Given the description of an element on the screen output the (x, y) to click on. 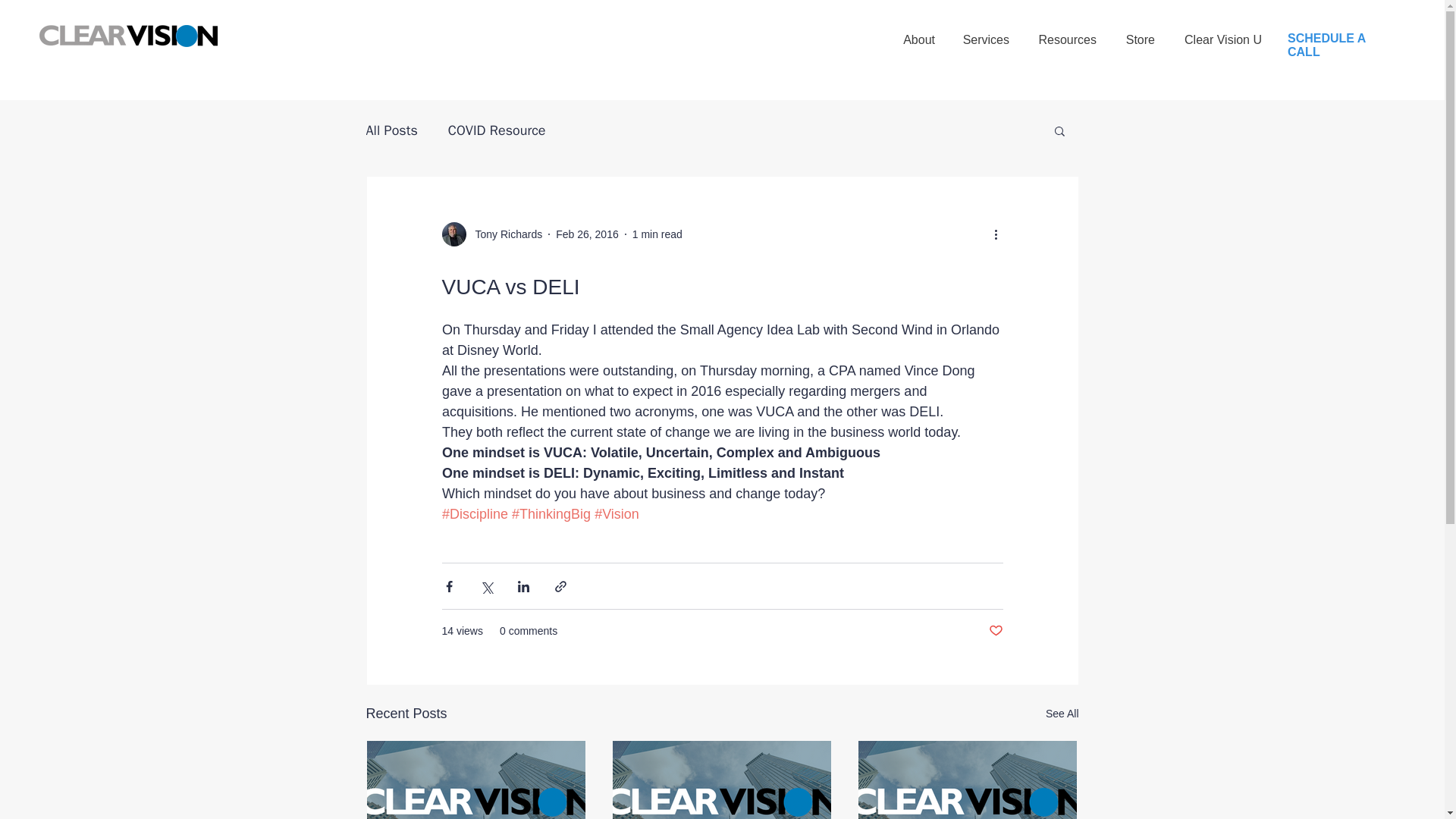
COVID Resource (497, 130)
About (917, 32)
SCHEDULE A CALL (1326, 44)
See All (1061, 713)
Resources (1066, 32)
Feb 26, 2016 (587, 233)
All Posts (390, 130)
1 min read (656, 233)
Tony Richards (503, 233)
Store (1139, 32)
